Given the description of an element on the screen output the (x, y) to click on. 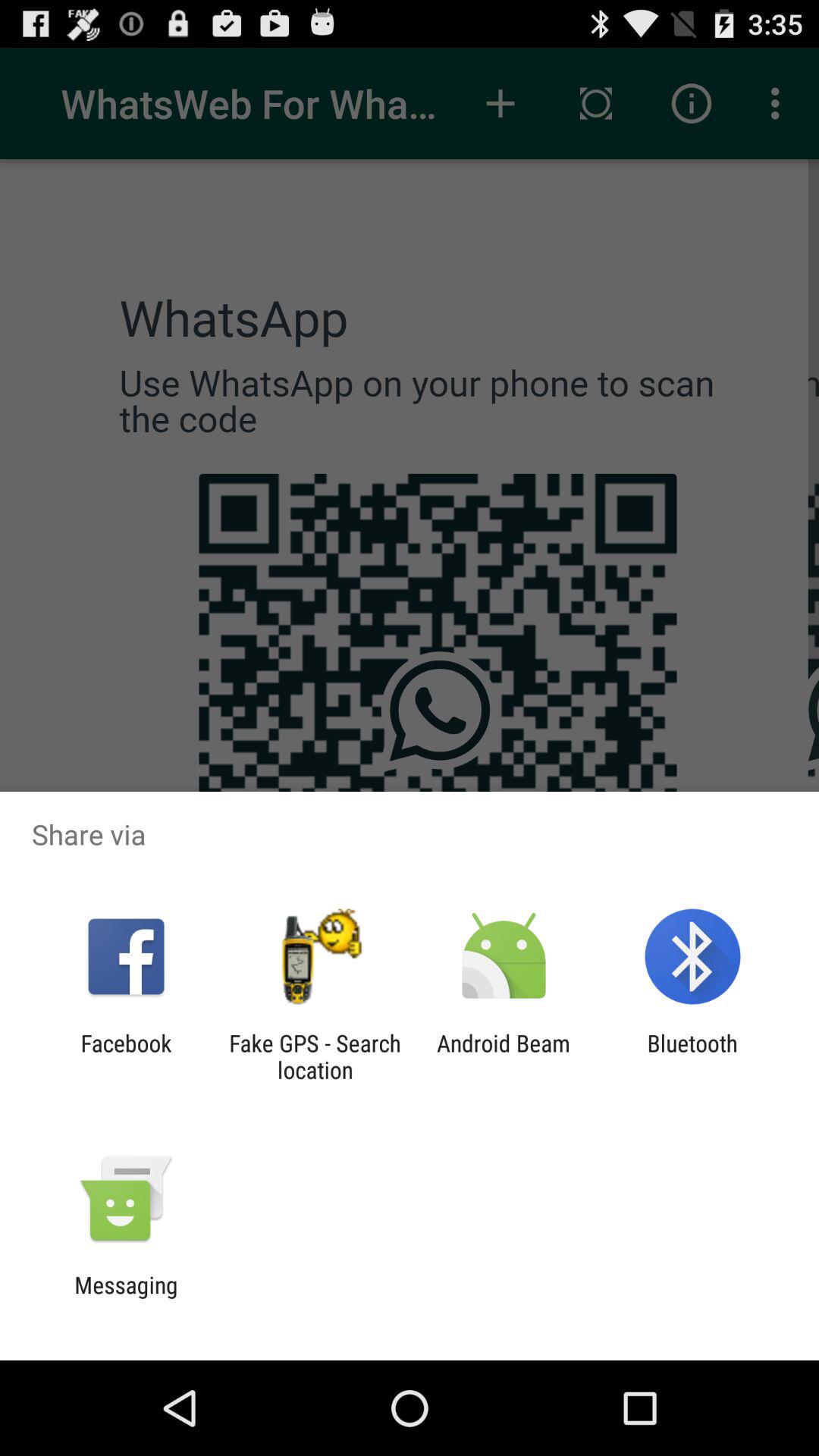
click the fake gps search icon (314, 1056)
